Given the description of an element on the screen output the (x, y) to click on. 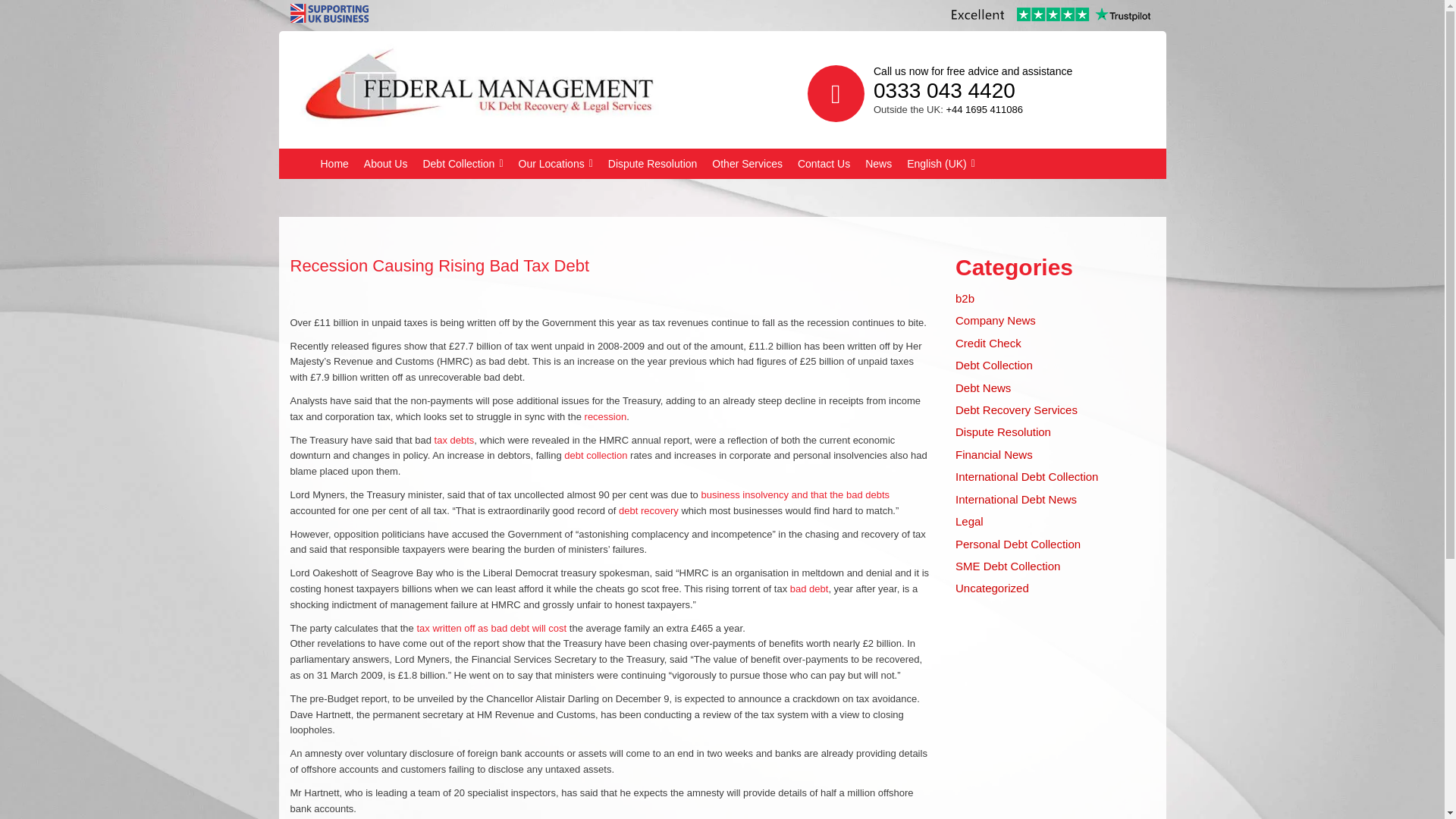
Debt Collection (462, 163)
Our Locations (555, 163)
Dispute Resolution (651, 163)
Other Services (747, 163)
0333 043 4420 (943, 90)
Contact Us (823, 163)
News (878, 163)
recession (606, 416)
business insolvency and that the bad debts (794, 494)
bad debt (809, 588)
tax debts (453, 439)
About Us (385, 163)
debt collection (595, 455)
Home (334, 163)
debt recovery (648, 510)
